Given the description of an element on the screen output the (x, y) to click on. 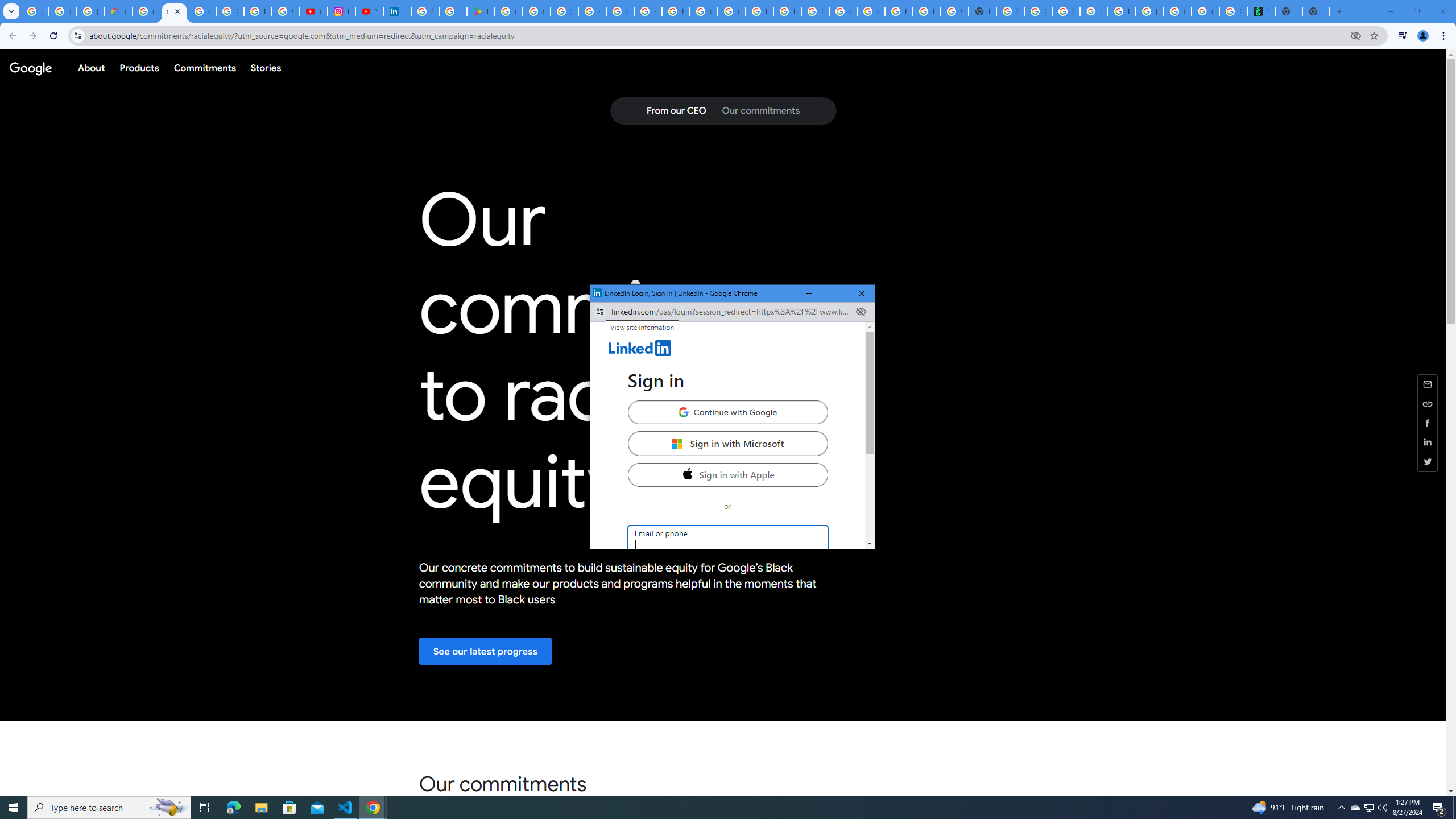
Microsoft Store (289, 807)
Show desktop (1454, 807)
Third-party cookies blocked (1355, 807)
Close (860, 311)
LinkedIn (861, 293)
Google Chrome - 3 running windows (727, 349)
Notification Chevron (373, 807)
Minimize (1341, 807)
Microsoft (809, 293)
User Promoted Notification Area (676, 443)
File Explorer (1368, 807)
Start (261, 807)
Continue with Google (13, 807)
Task View (727, 412)
